Given the description of an element on the screen output the (x, y) to click on. 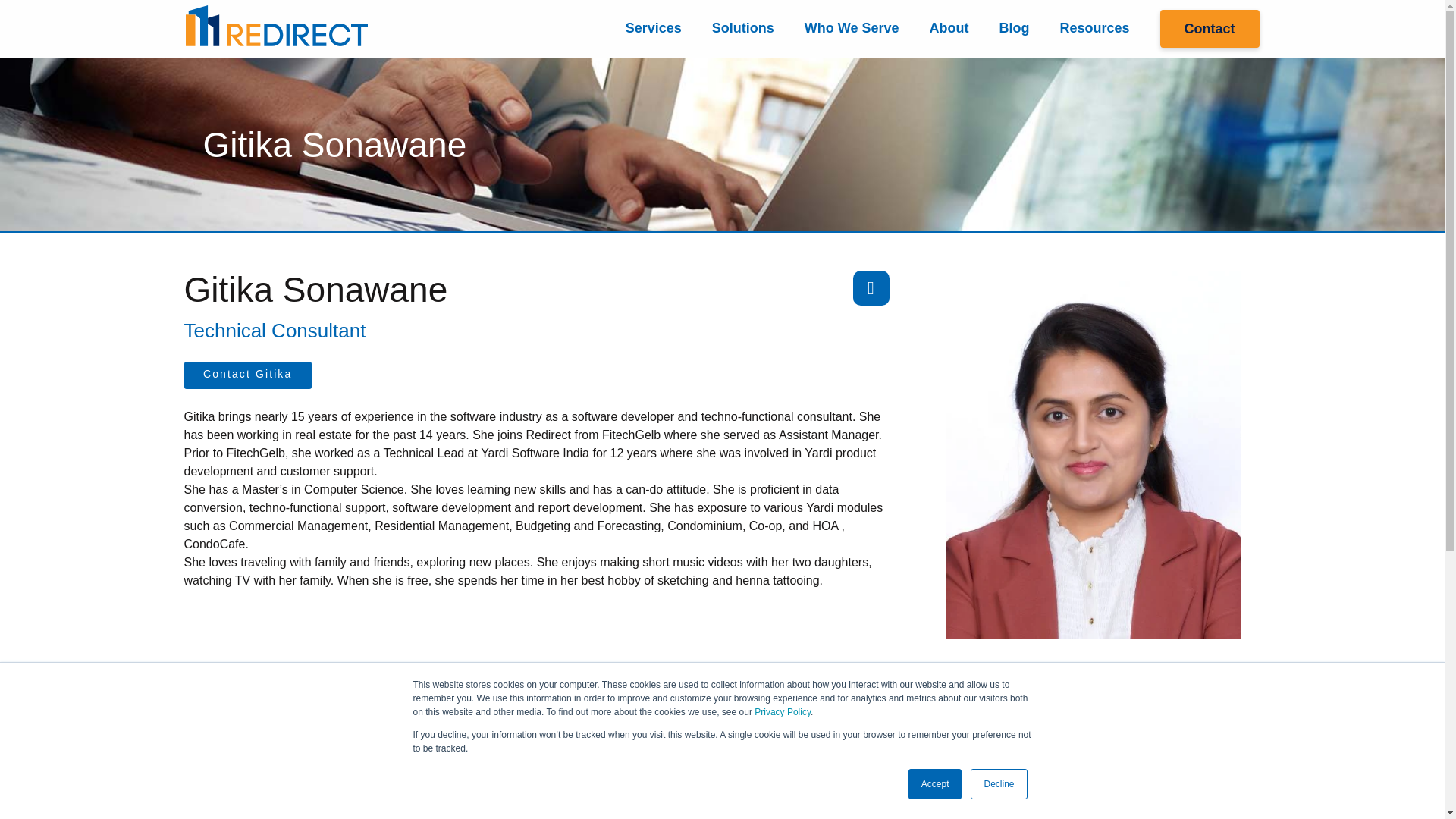
Privacy Policy (782, 711)
Accept (935, 784)
Services (653, 28)
Decline (998, 784)
About (949, 28)
Solutions (743, 28)
Who We Serve (851, 28)
